Given the description of an element on the screen output the (x, y) to click on. 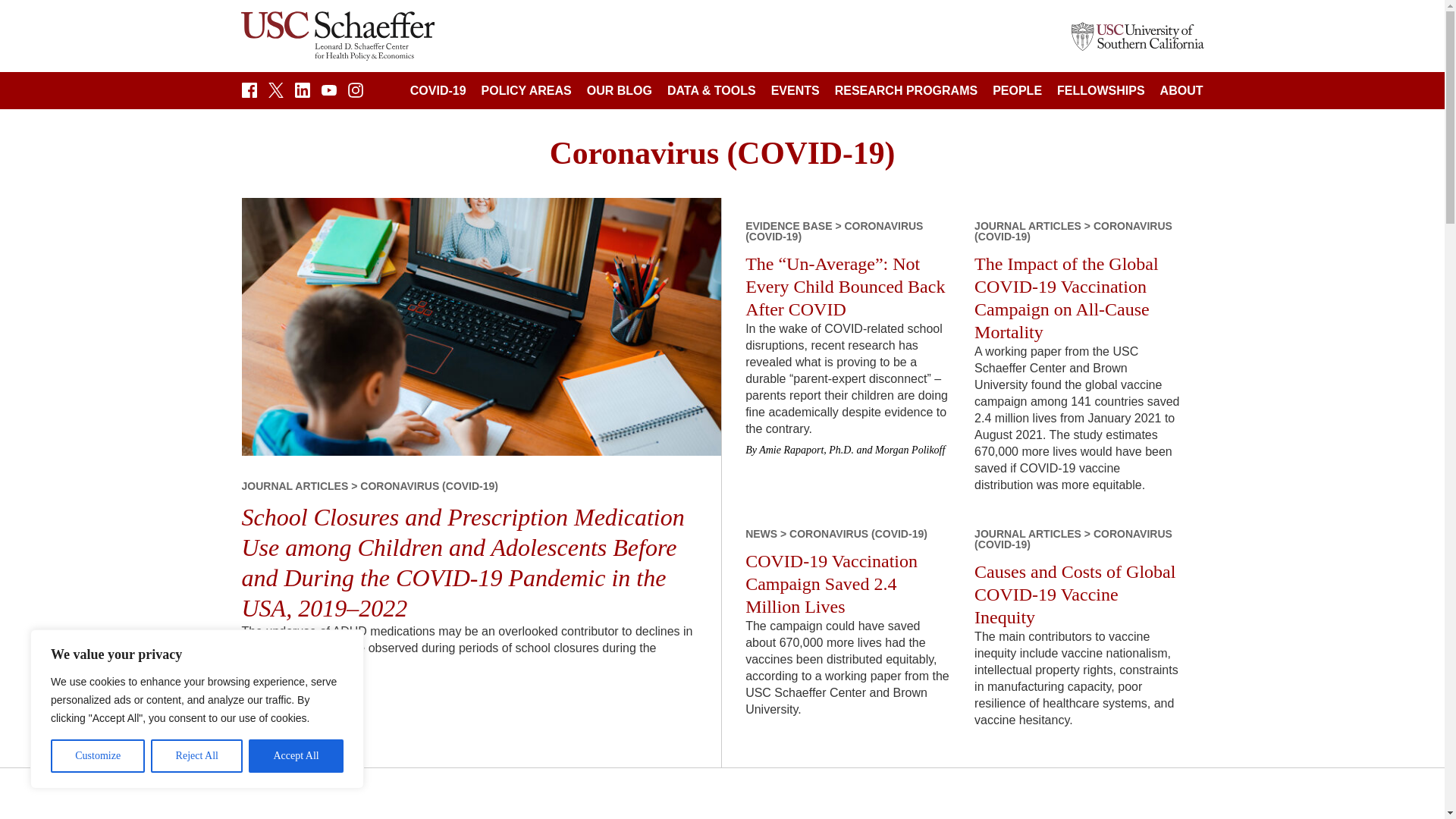
USC on Instagram (354, 92)
Posts by Morgan Polikoff (909, 449)
Reject All (197, 756)
Posts by Amie Rapaport, Ph.D. (805, 449)
POLICY AREAS (526, 90)
Customize (97, 756)
USC on Facebook (248, 92)
USC on X (275, 92)
Part of the University of Southern California (1137, 35)
COVID-19 (437, 90)
Navigate to homepage (337, 35)
USC on LinkedIn (301, 92)
USC on YouTube (328, 92)
Accept All (295, 756)
